Given the description of an element on the screen output the (x, y) to click on. 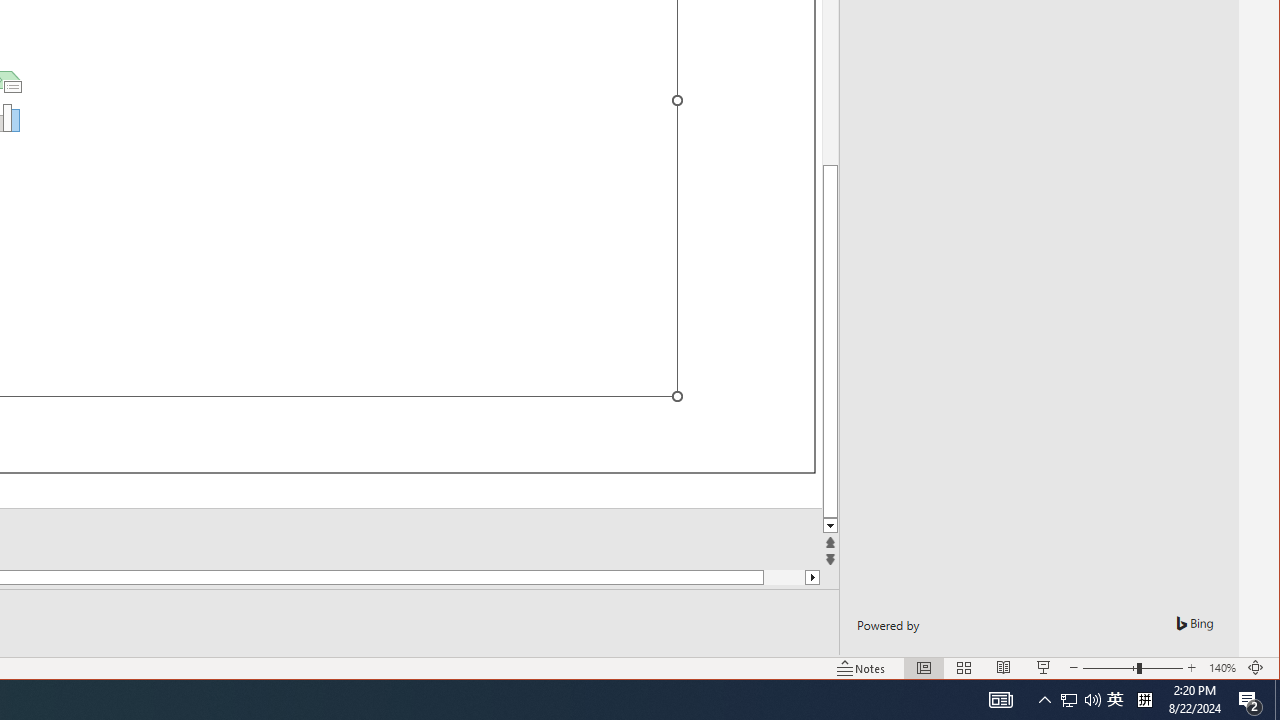
Line down (829, 525)
Zoom Out (1109, 668)
Reading View (1004, 668)
Notification Chevron (1115, 699)
AutomationID: 4105 (1044, 699)
Normal (1000, 699)
User Promoted Notification Area (923, 668)
Action Center, 2 new notifications (1080, 699)
Notes  (1069, 699)
Zoom (1250, 699)
Zoom In (861, 668)
